Given the description of an element on the screen output the (x, y) to click on. 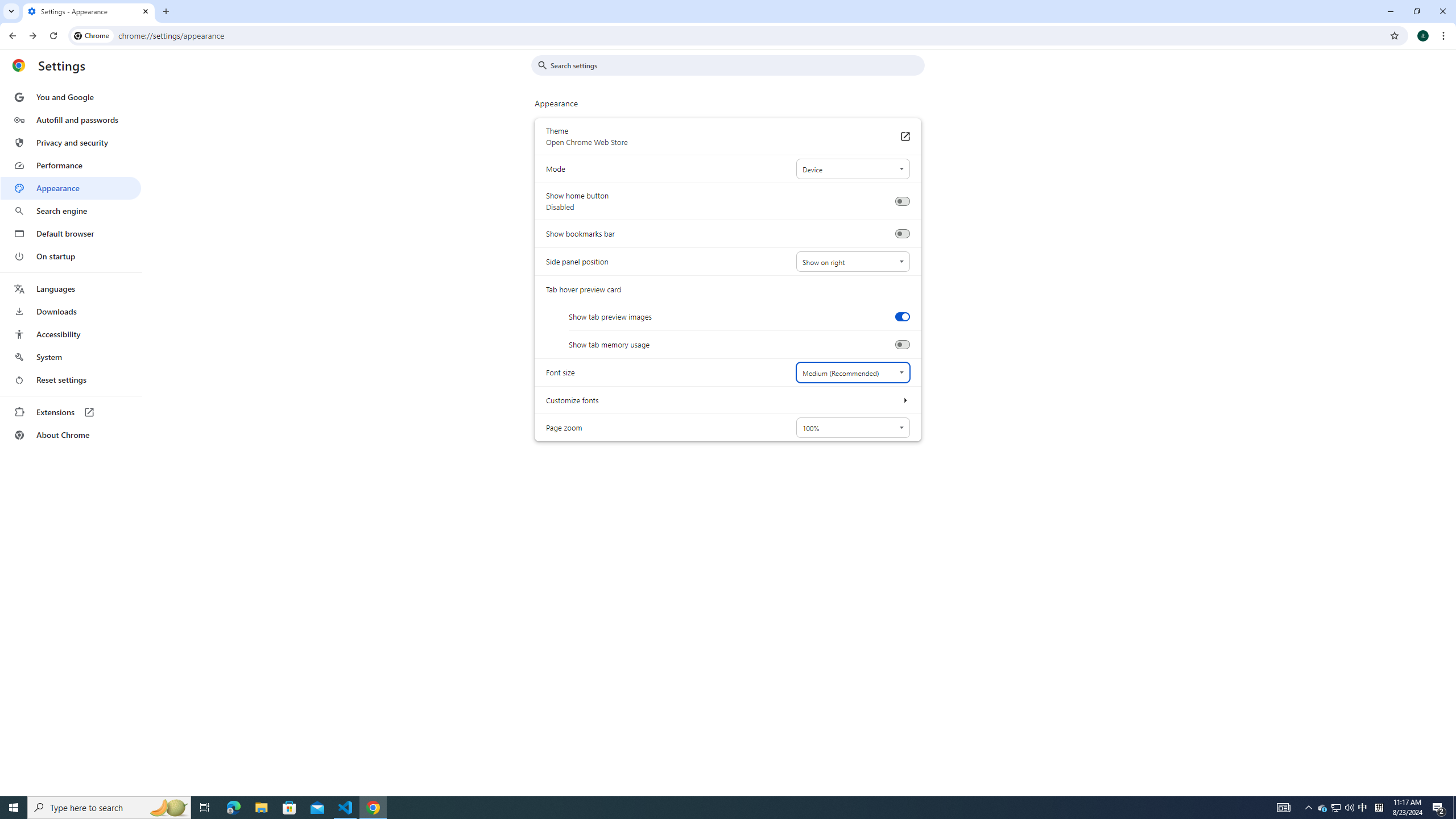
Search engine (70, 210)
Reset settings (70, 379)
Autofill and passwords (70, 119)
Theme Open Chrome Web Store (904, 136)
Side panel position (852, 261)
Font size (852, 372)
Show bookmarks bar (901, 234)
Languages (70, 288)
Show home button (901, 201)
Extensions (70, 412)
